Given the description of an element on the screen output the (x, y) to click on. 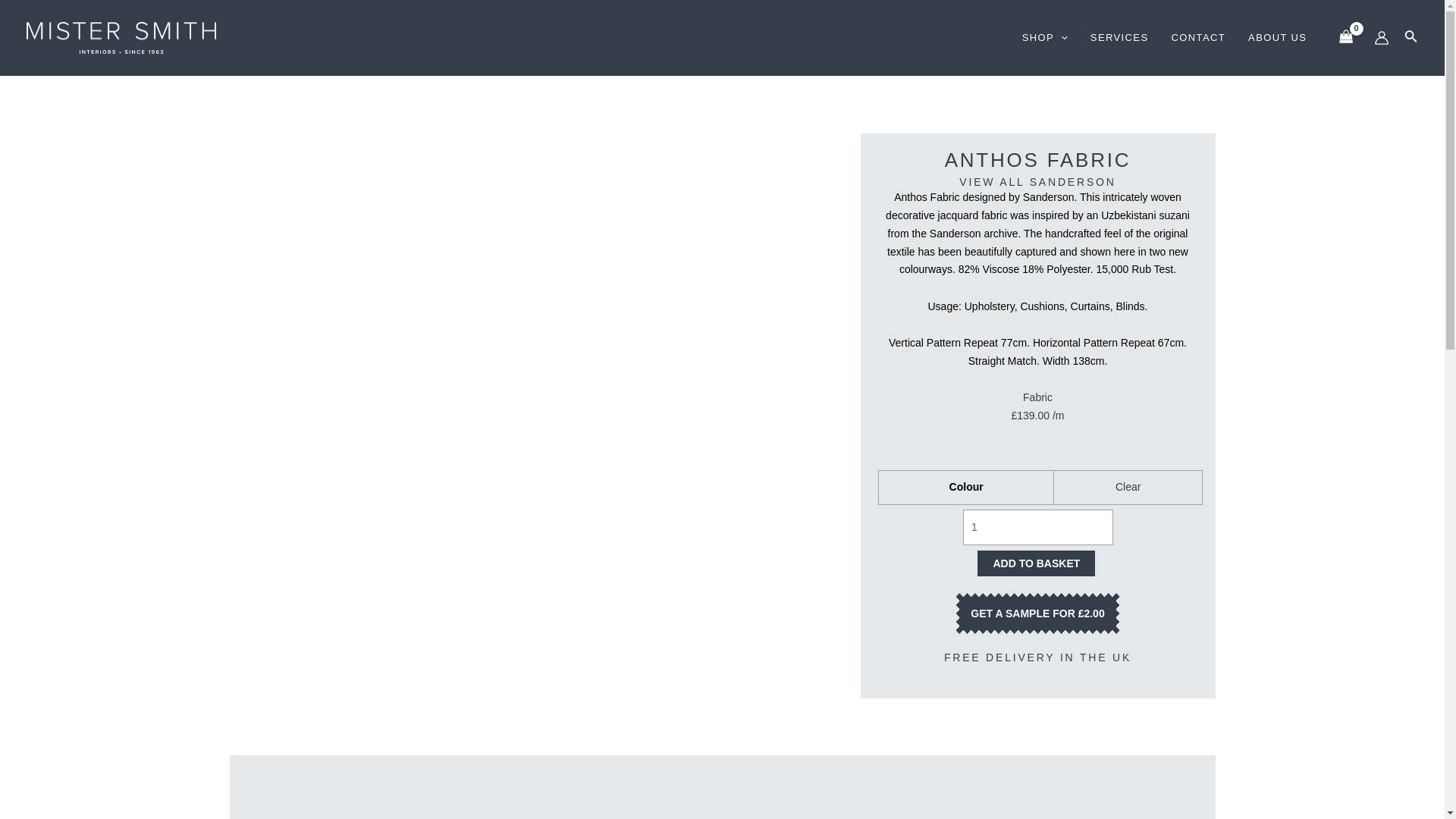
ADD TO BASKET (1035, 563)
CONTACT (1198, 38)
VIEW ALL SANDERSON (1037, 182)
ABOUT US (1276, 38)
Fabric (1037, 397)
SHOP (1044, 38)
SERVICES (1119, 38)
Clear (1127, 486)
1 (1037, 527)
